Given the description of an element on the screen output the (x, y) to click on. 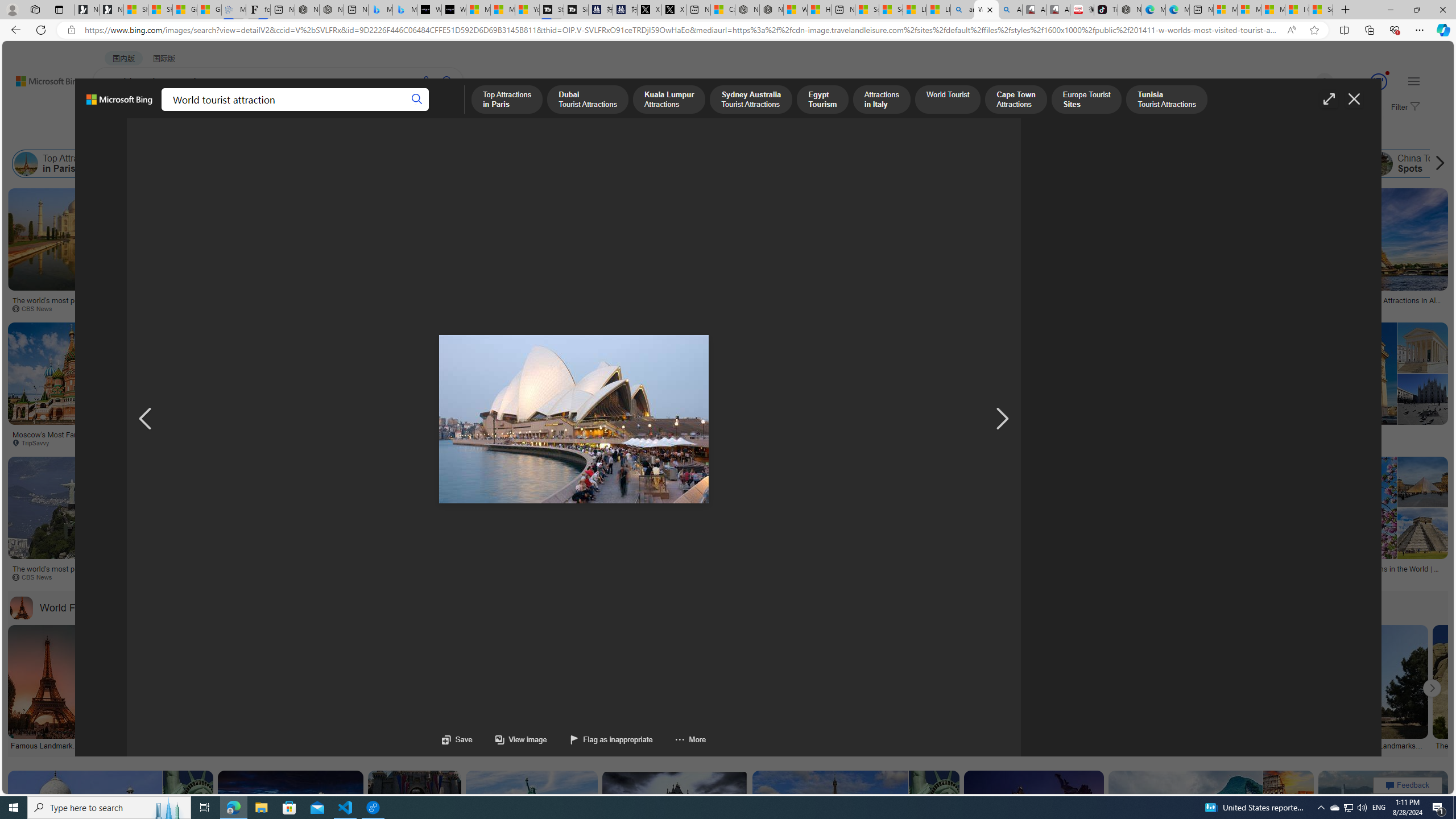
France Best Places (1298, 163)
Class: b_pri_nav_svg (191, 112)
AutomationID: navr (1001, 418)
World tourist attraction - Search Images (986, 9)
Jetsetter (813, 308)
PlanetWare (1305, 576)
Class: medal-svg-animation (1378, 81)
License (378, 135)
familyvacationist.com (230, 442)
MAPS (397, 111)
